Given the description of an element on the screen output the (x, y) to click on. 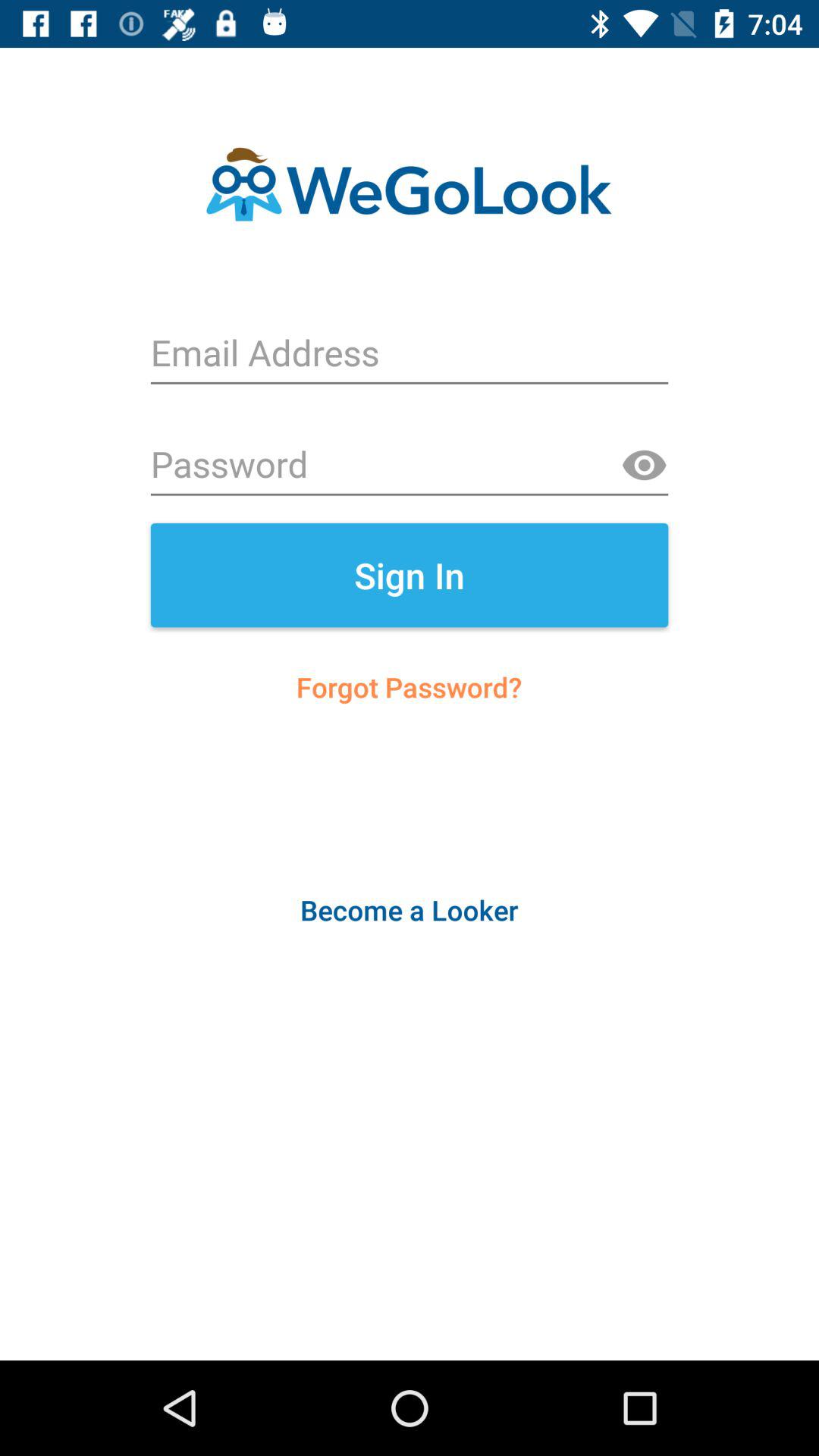
tap the icon above forgot password? item (409, 575)
